Given the description of an element on the screen output the (x, y) to click on. 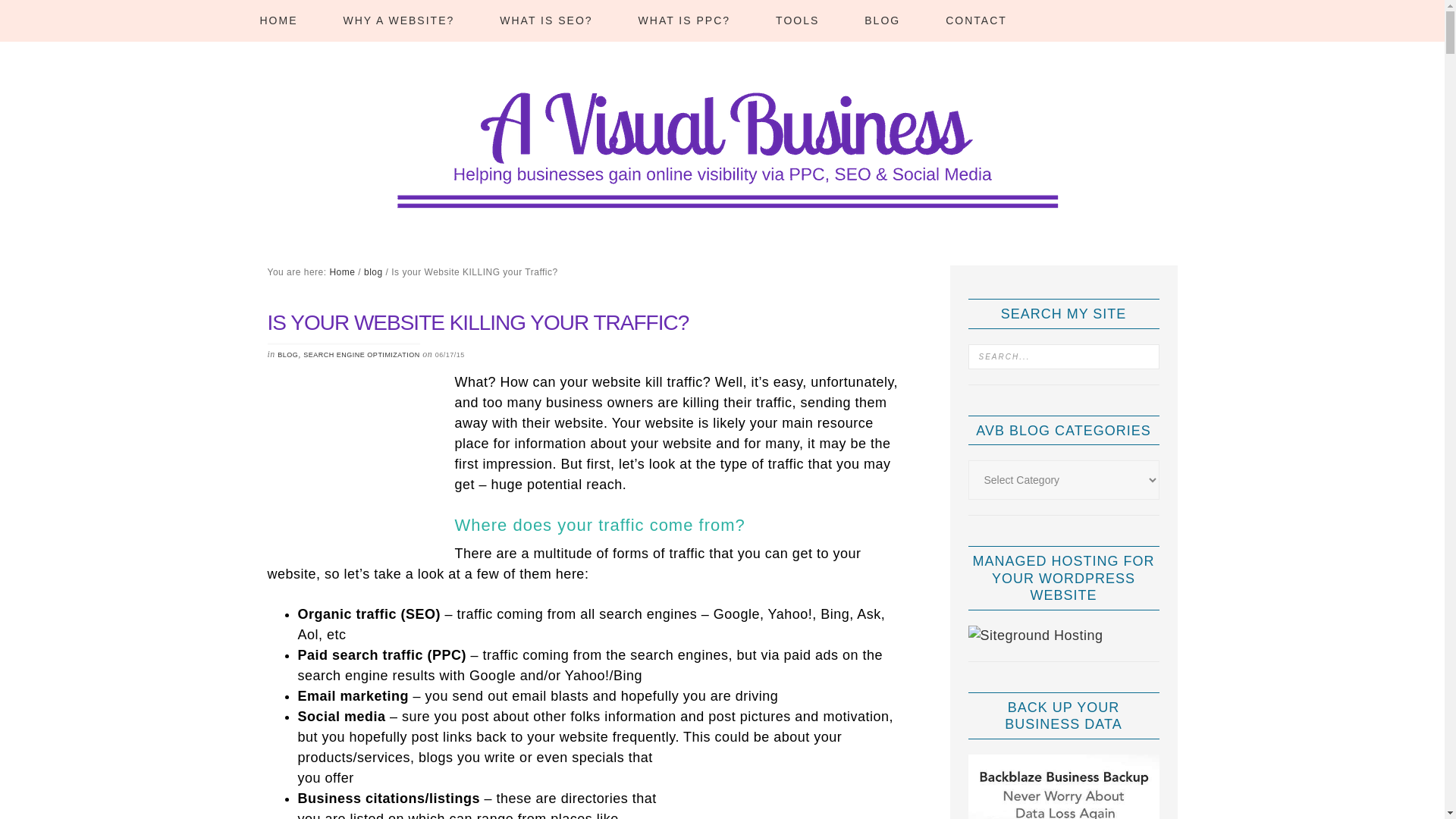
Home (342, 271)
WHAT IS SEO? (545, 20)
BLOG (288, 354)
blog (373, 271)
HOME (277, 20)
SEARCH ENGINE OPTIMIZATION (360, 354)
TOOLS (796, 20)
